Given the description of an element on the screen output the (x, y) to click on. 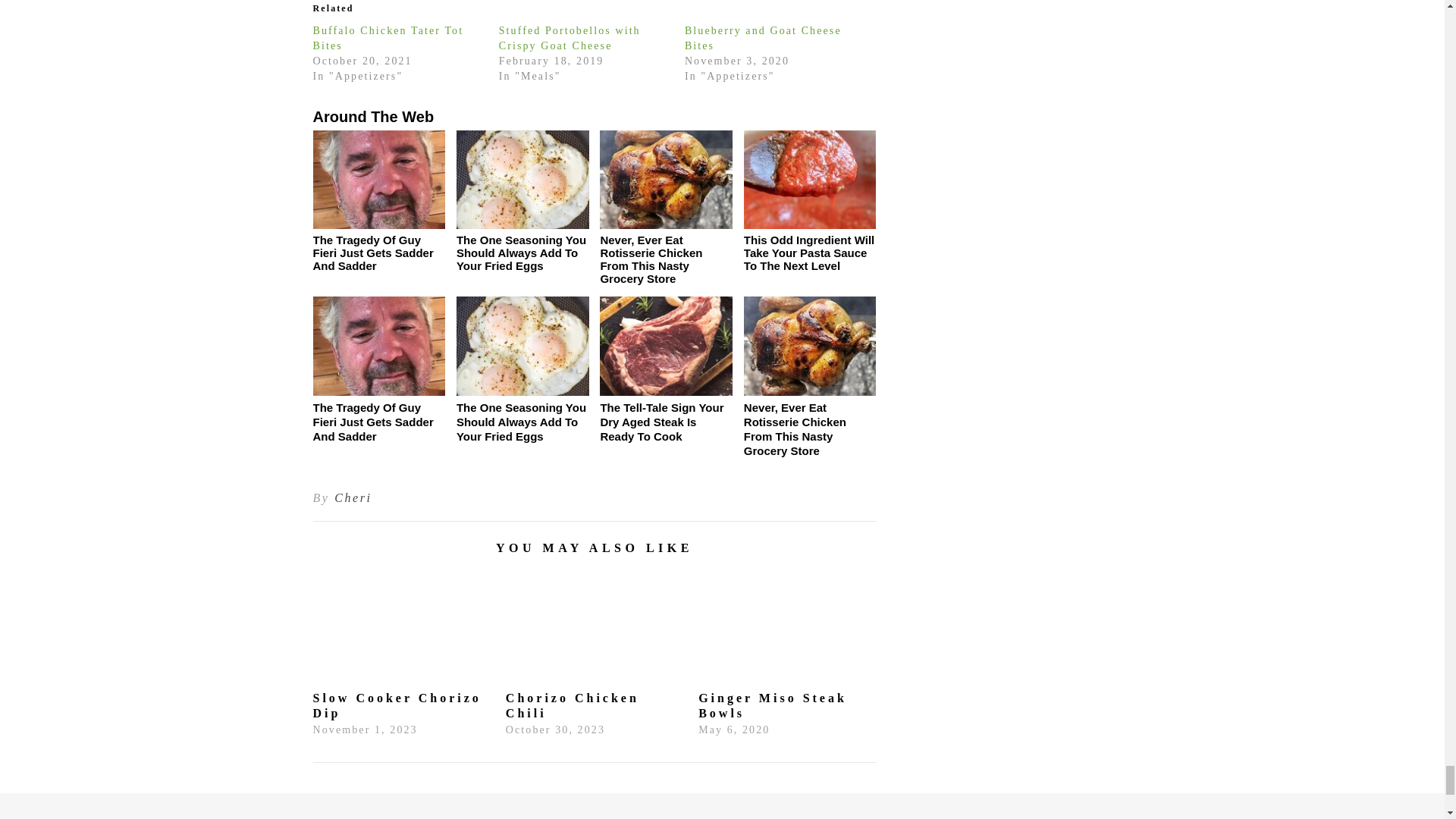
Blueberry and Goat Cheese Bites (762, 37)
Posts by Cheri (352, 497)
Stuffed Portobellos with Crispy Goat Cheese (569, 37)
Buffalo Chicken Tater Tot Bites (388, 37)
